Given the description of an element on the screen output the (x, y) to click on. 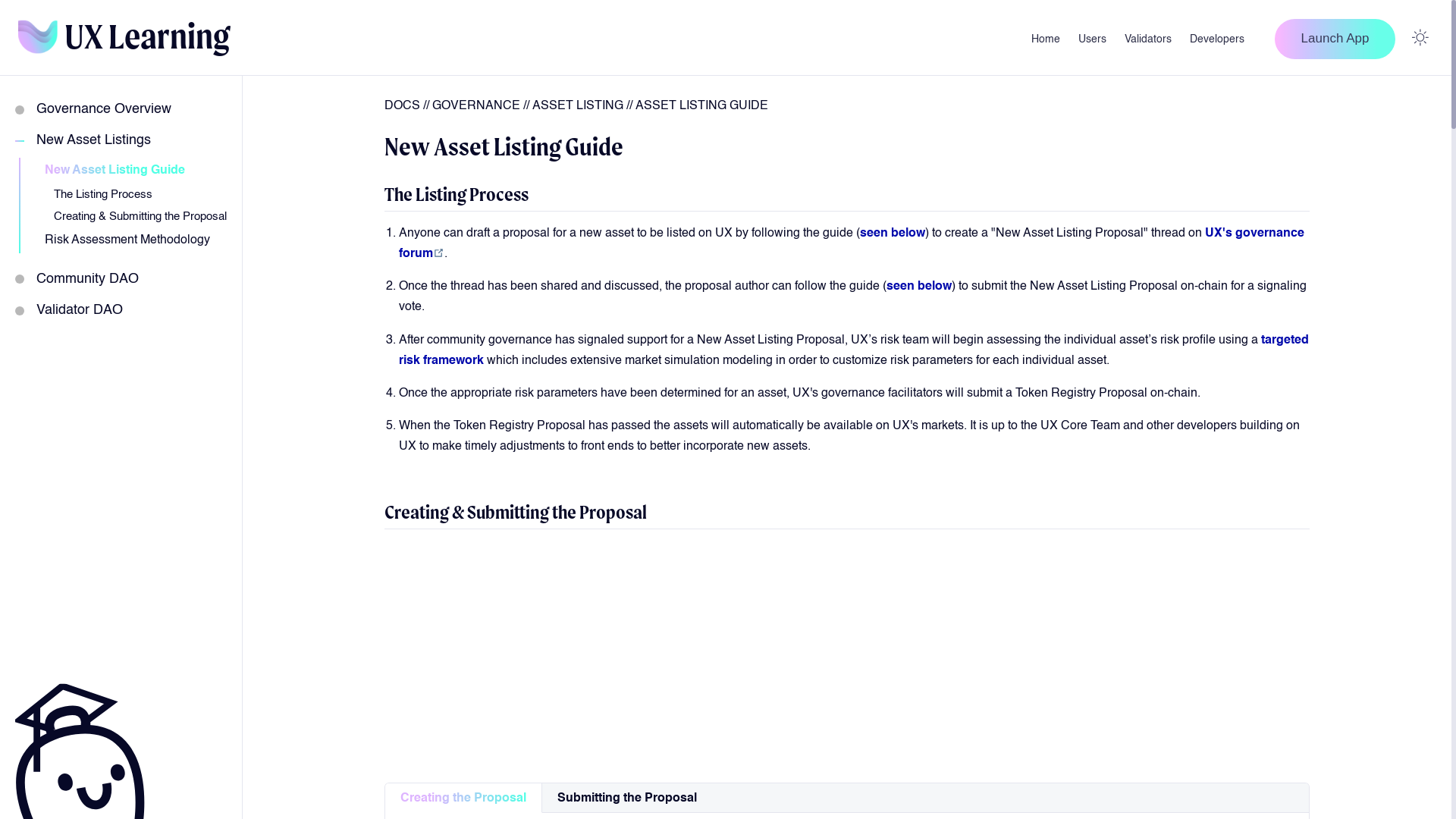
Users Element type: text (1092, 39)
ASSET LISTING Element type: text (577, 106)
Creating & Submitting the Proposal Element type: text (136, 216)
Home Element type: text (1045, 39)
Launch App Element type: text (1334, 38)
targeted risk framework Element type: text (853, 350)
UX's governance forum
open in new window Element type: text (851, 243)
Validators Element type: text (1147, 39)
GOVERNANCE Element type: text (476, 106)
seen below Element type: text (918, 286)
UX Learning Element type: text (123, 37)
DOCS Element type: text (402, 106)
YouTube video player Element type: hover (596, 648)
New Asset Listing Guide Element type: text (130, 170)
Risk Assessment Methodology Element type: text (130, 240)
seen below Element type: text (892, 233)
The Listing Process Element type: text (136, 194)
ASSET LISTING GUIDE Element type: text (701, 106)
toggle color mode Element type: hover (1420, 37)
Developers Element type: text (1216, 39)
